Given the description of an element on the screen output the (x, y) to click on. 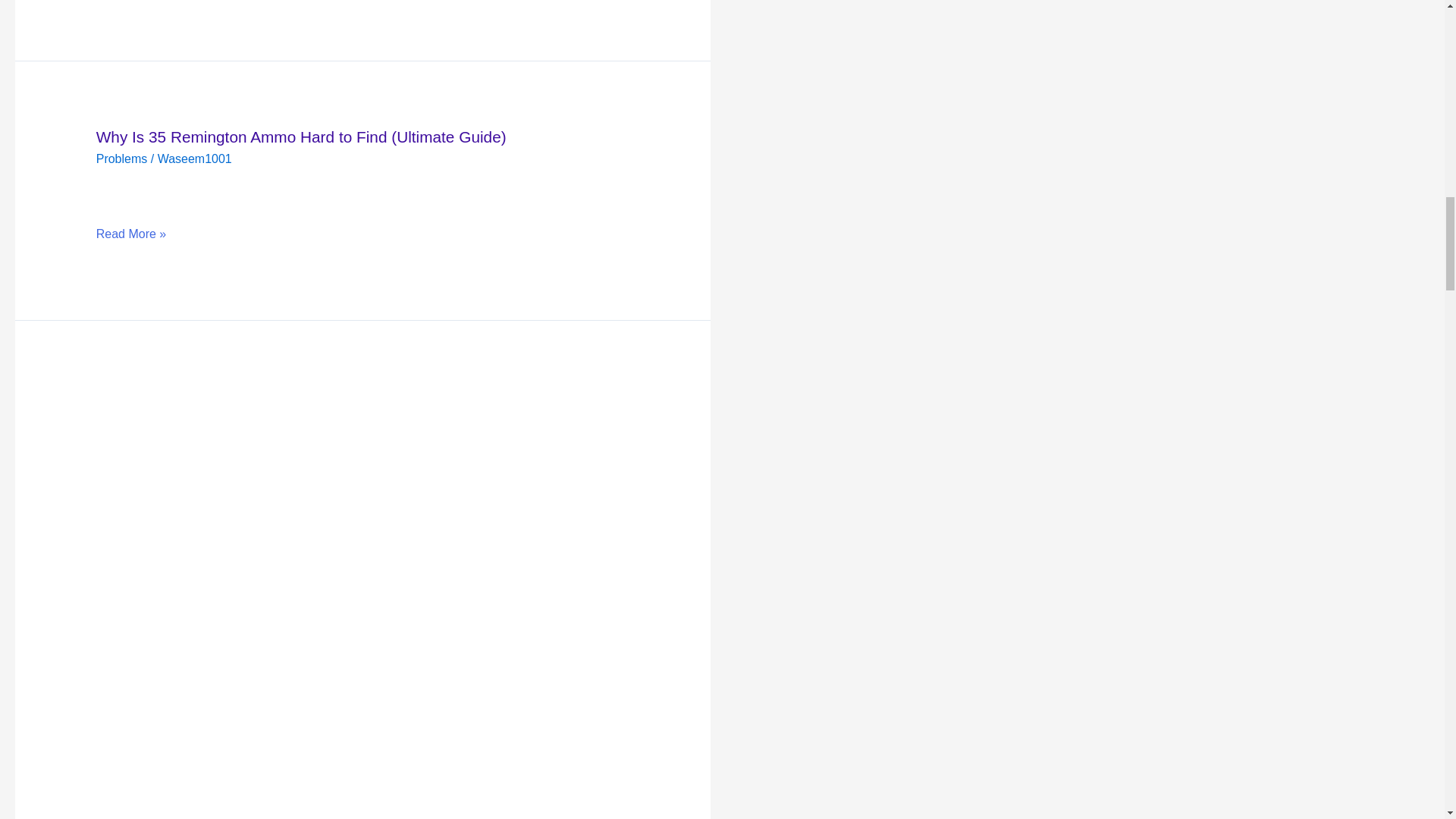
Problems (122, 158)
View all posts by Waseem1001 (194, 158)
Waseem1001 (194, 158)
